Given the description of an element on the screen output the (x, y) to click on. 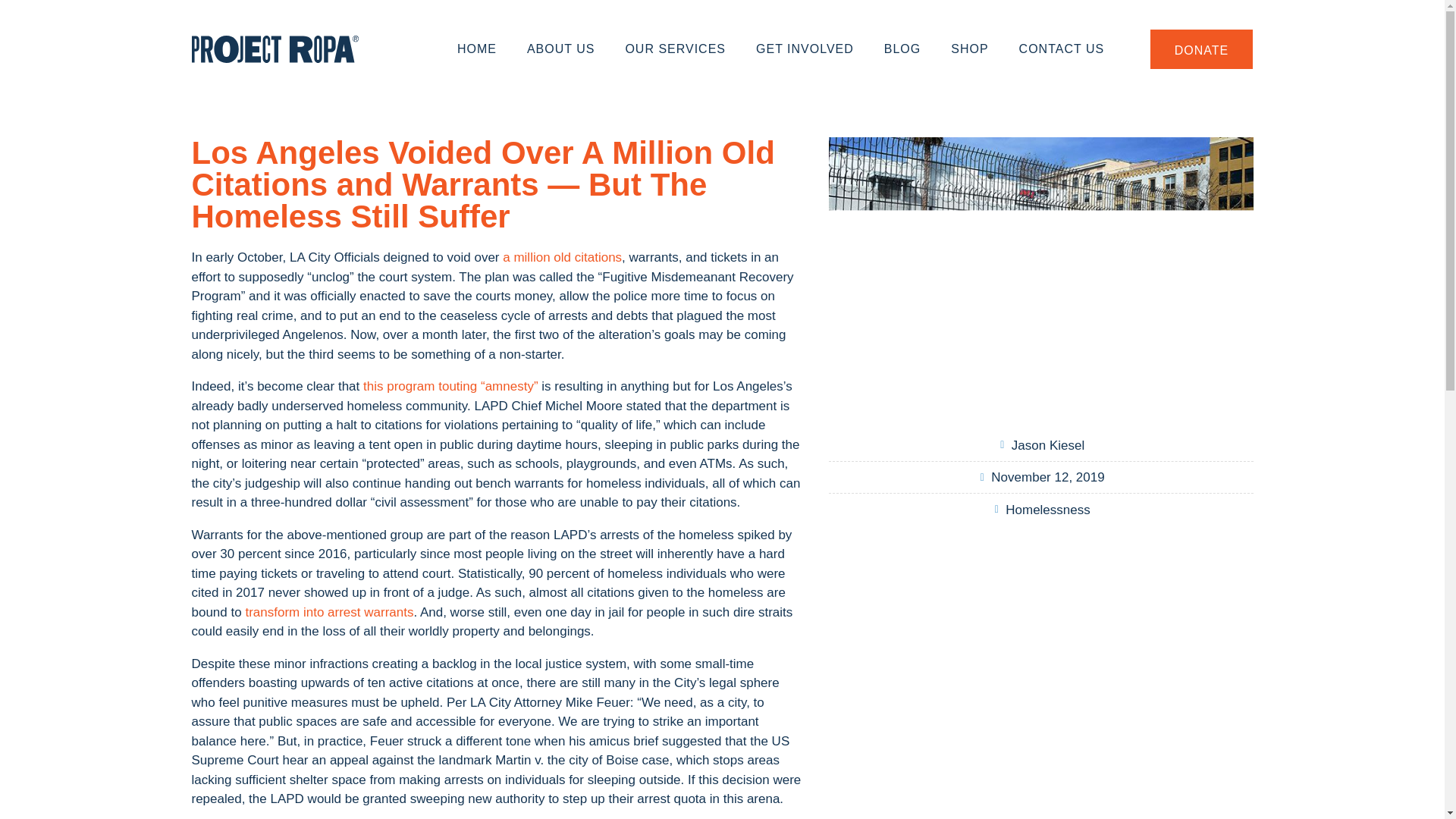
DONATE (1201, 48)
SHOP (969, 48)
About Us (561, 48)
Our Services (675, 48)
Blog (902, 48)
Home (477, 48)
BLOG (902, 48)
ABOUT US (561, 48)
Contact Us (1061, 48)
GET INVOLVED (805, 48)
HOME (477, 48)
CONTACT US (1061, 48)
Shop (969, 48)
OUR SERVICES (675, 48)
Get Involved (805, 48)
